Given the description of an element on the screen output the (x, y) to click on. 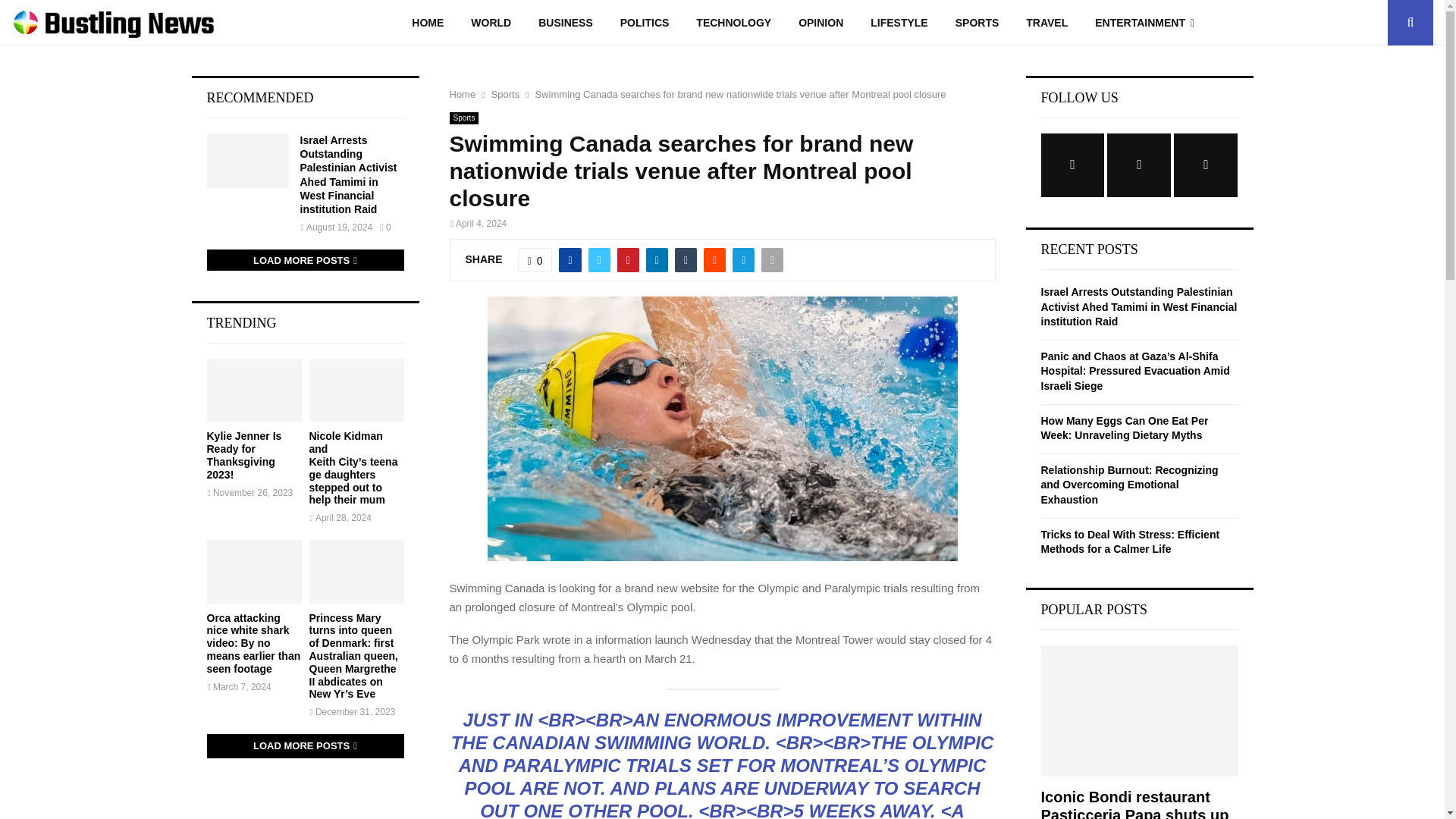
OPINION (820, 22)
LIFESTYLE (898, 22)
0 (535, 259)
TECHNOLOGY (733, 22)
ENTERTAINMENT (1144, 22)
HOME (427, 22)
Sports (463, 118)
Home (462, 93)
SPORTS (977, 22)
POLITICS (644, 22)
